Given the description of an element on the screen output the (x, y) to click on. 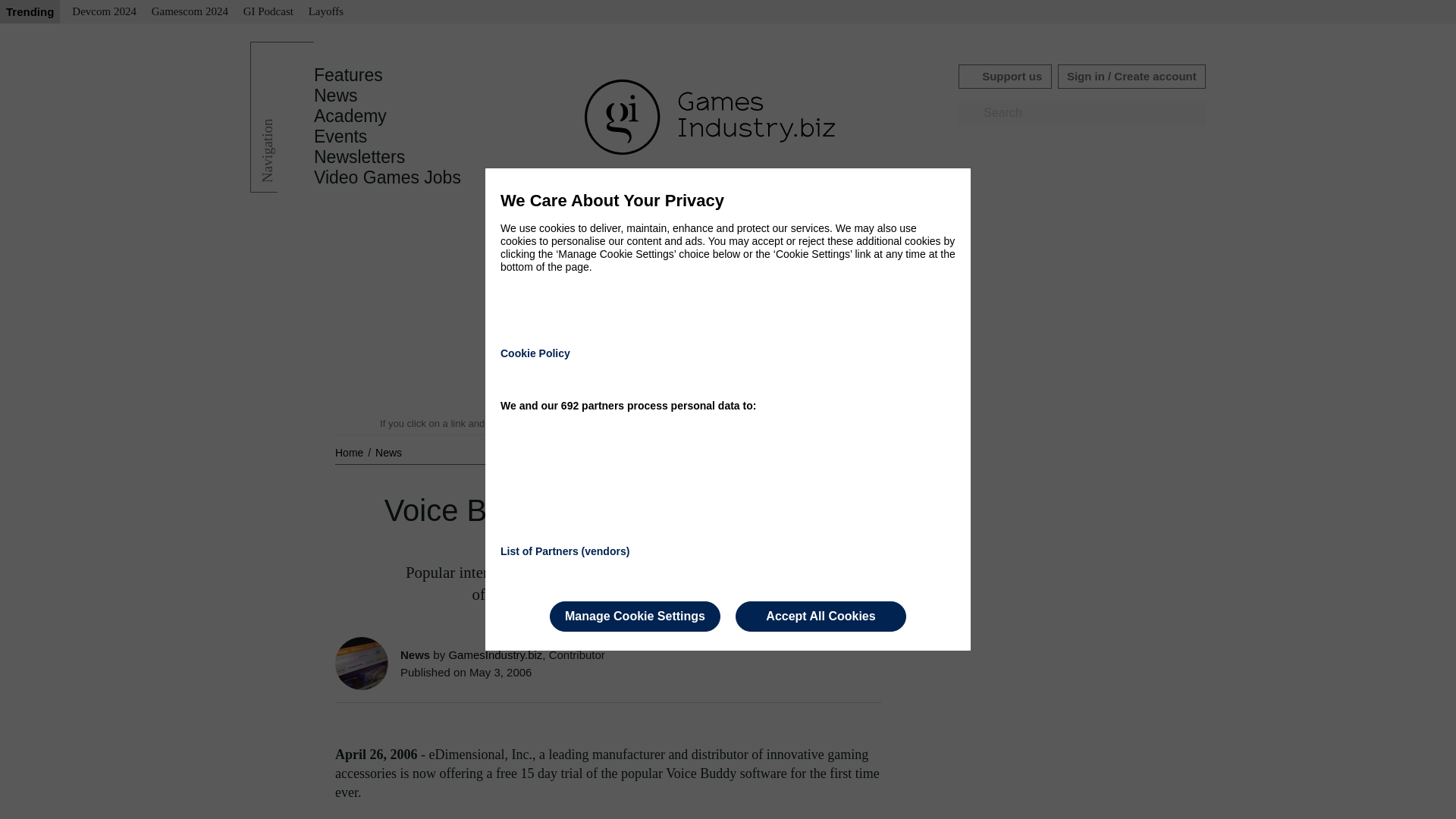
Layoffs (325, 11)
News (336, 95)
Newsletters (359, 157)
Video Games Jobs (387, 177)
Academy (350, 116)
News (336, 95)
News (388, 452)
News (388, 452)
Devcom 2024 (103, 11)
GI Podcast (268, 11)
